Given the description of an element on the screen output the (x, y) to click on. 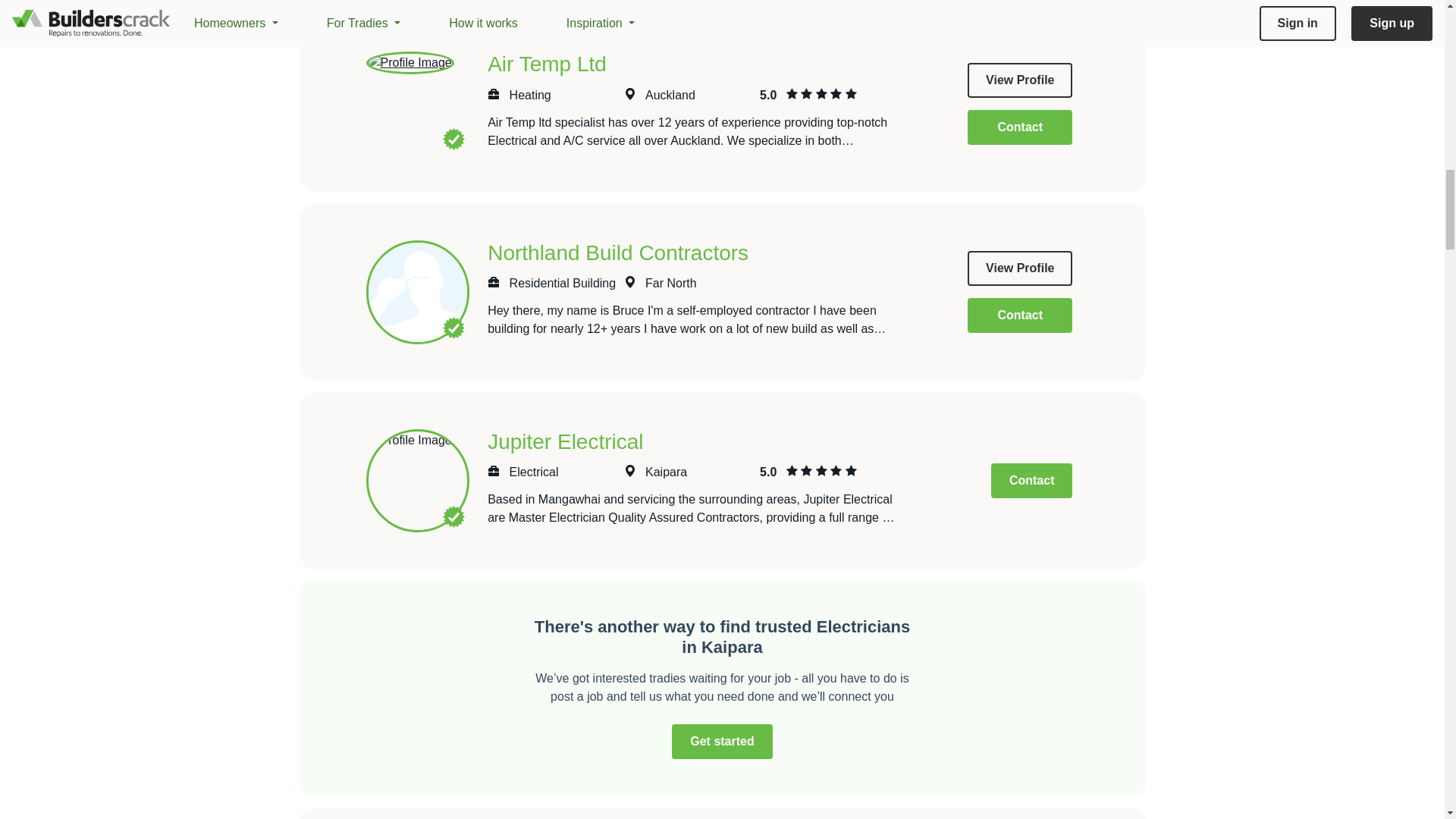
BC Verified (453, 327)
BC Verified (453, 138)
BC Verified (453, 516)
